Given the description of an element on the screen output the (x, y) to click on. 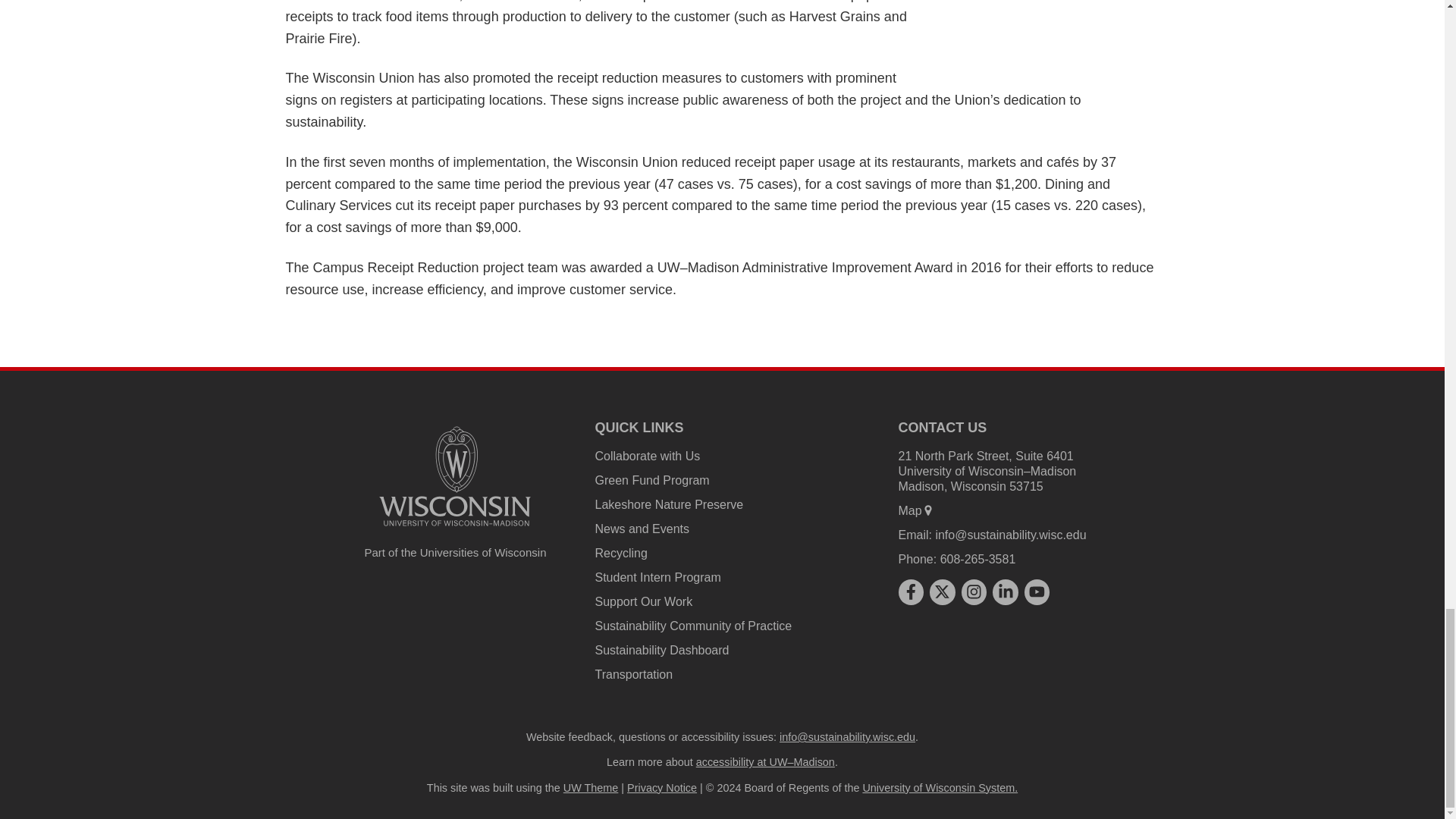
instagram (973, 591)
map marker (927, 510)
facebook (910, 591)
University logo that links to main university website (454, 476)
x twitter (941, 591)
youtube (1037, 591)
linkedin (1005, 591)
